Given the description of an element on the screen output the (x, y) to click on. 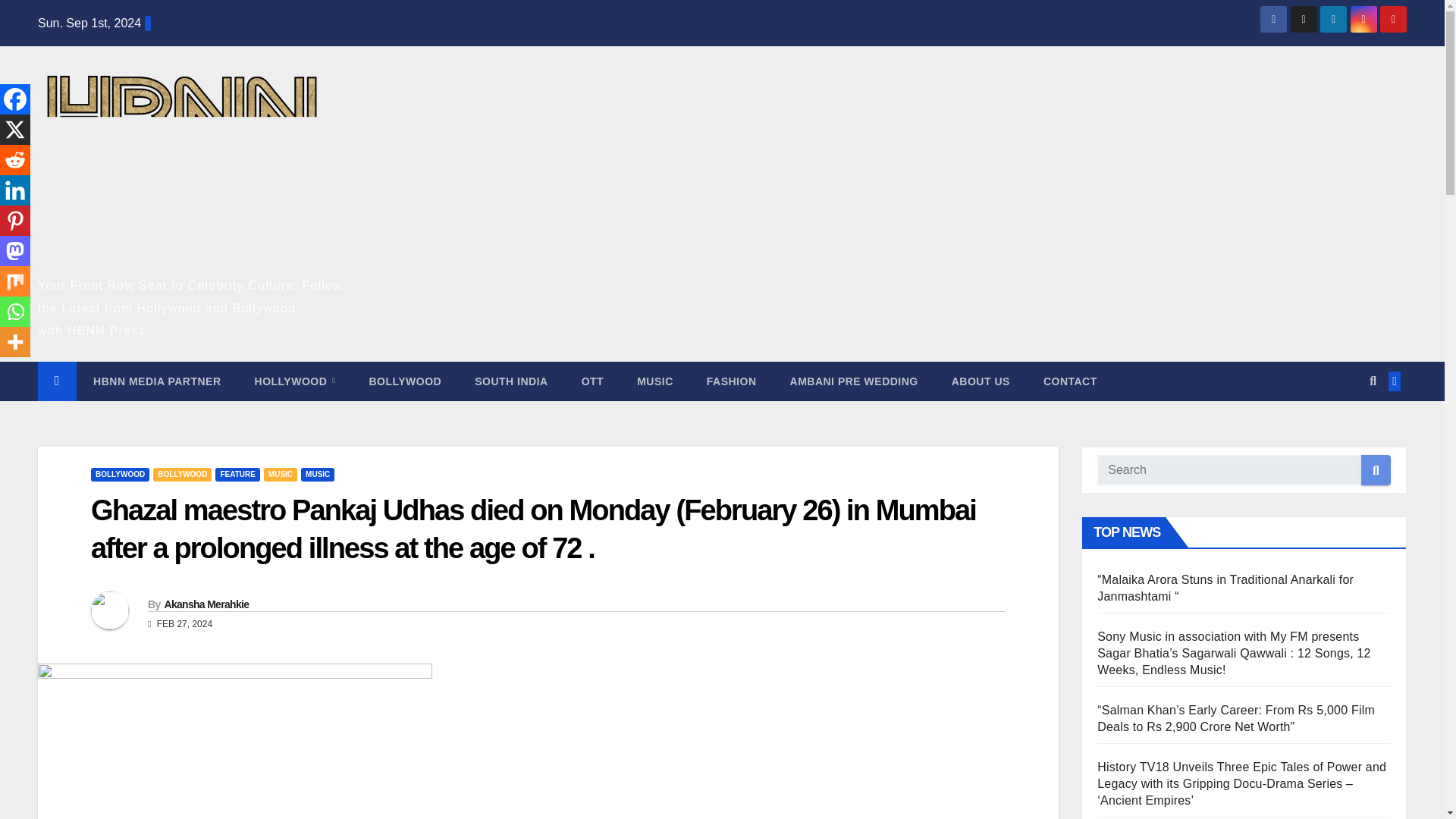
FEATURE (237, 474)
MUSIC (280, 474)
BOLLYWOOD (405, 381)
Fashion (731, 381)
HBNN MEDIA PARTNER (157, 381)
Ambani Pre Wedding (853, 381)
About Us (980, 381)
Bollywood (405, 381)
Hollywood (295, 381)
AMBANI PRE WEDDING (853, 381)
